Given the description of an element on the screen output the (x, y) to click on. 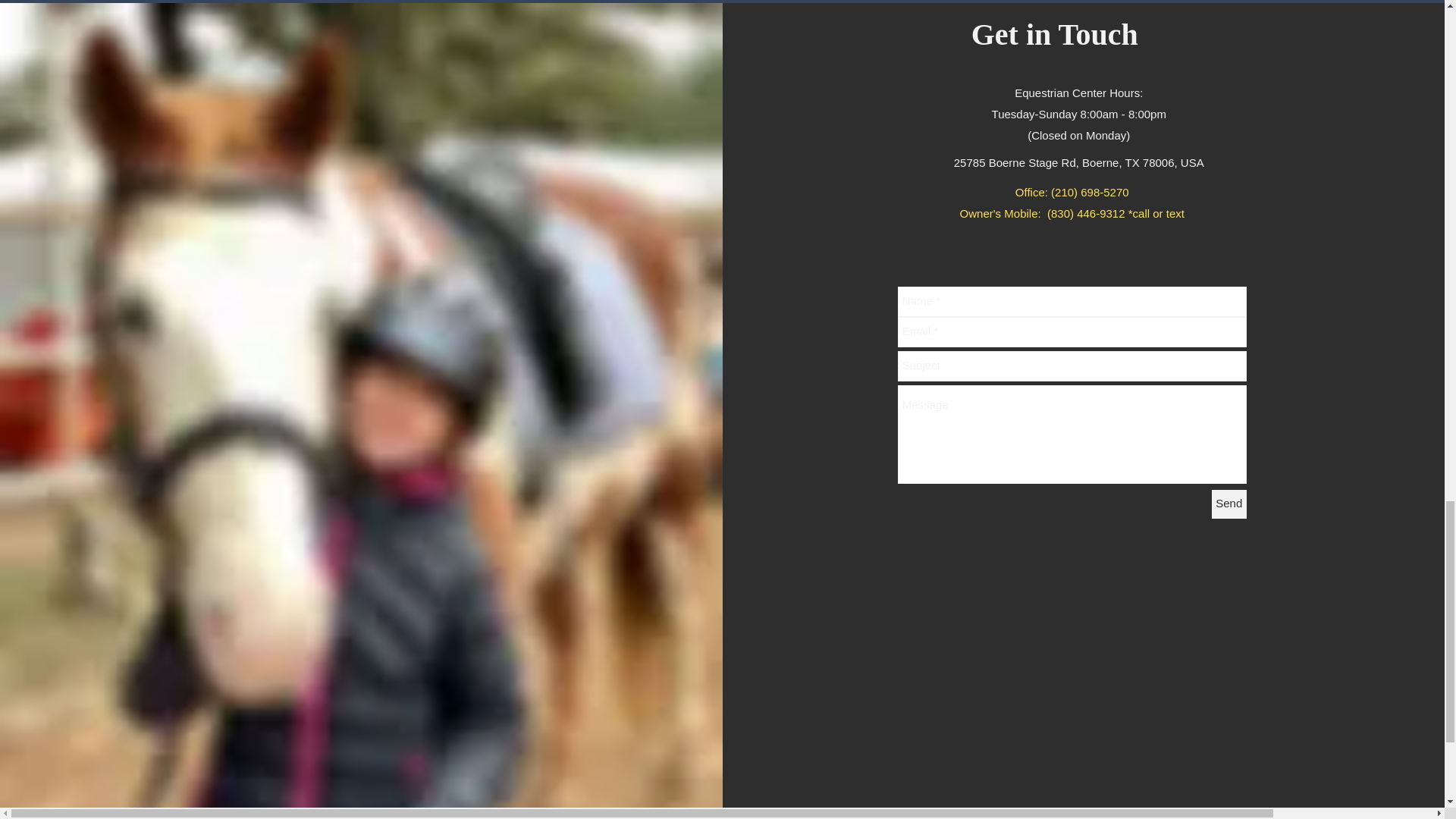
Send (1228, 503)
